Given the description of an element on the screen output the (x, y) to click on. 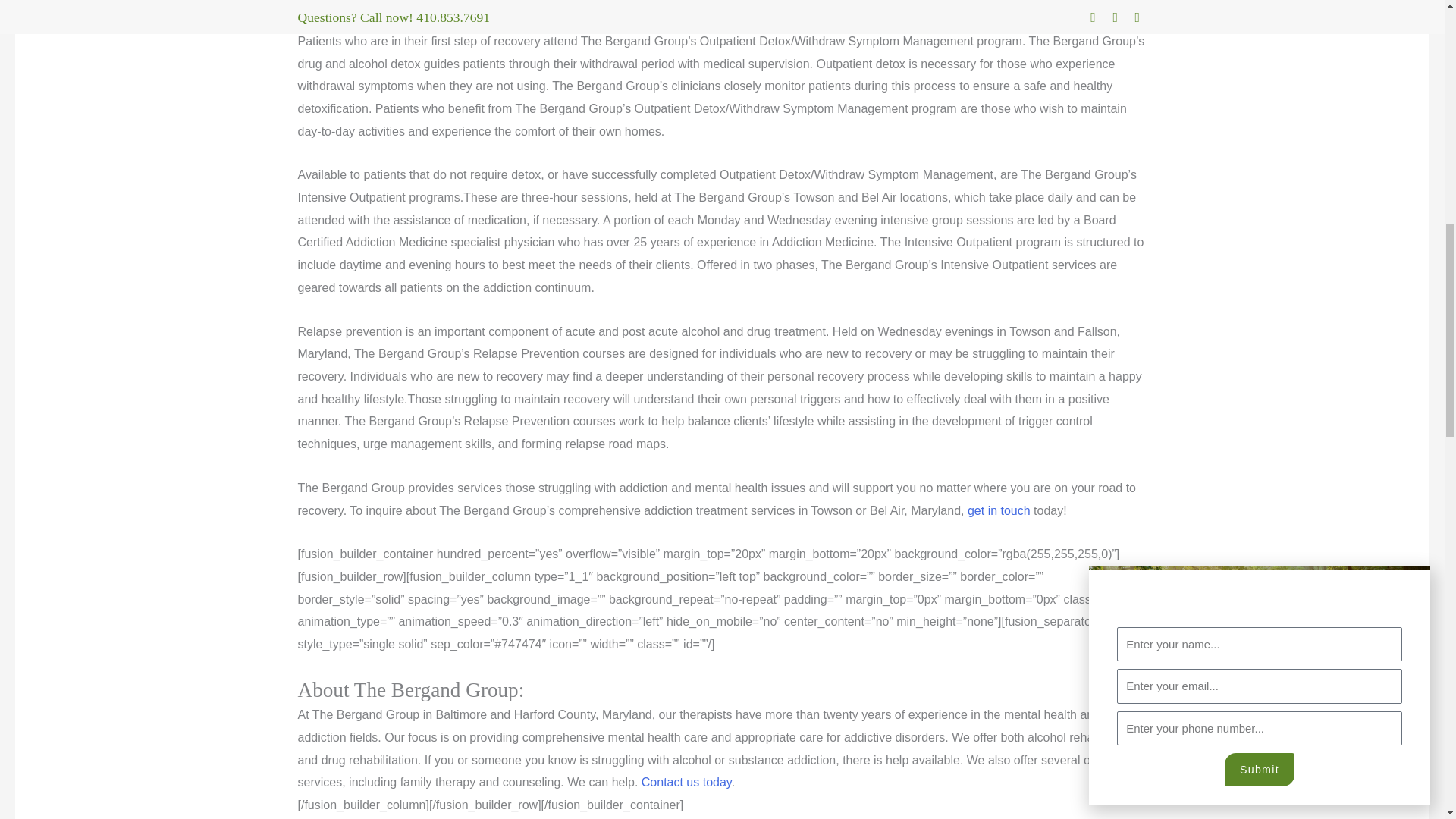
Contact (687, 781)
